Given the description of an element on the screen output the (x, y) to click on. 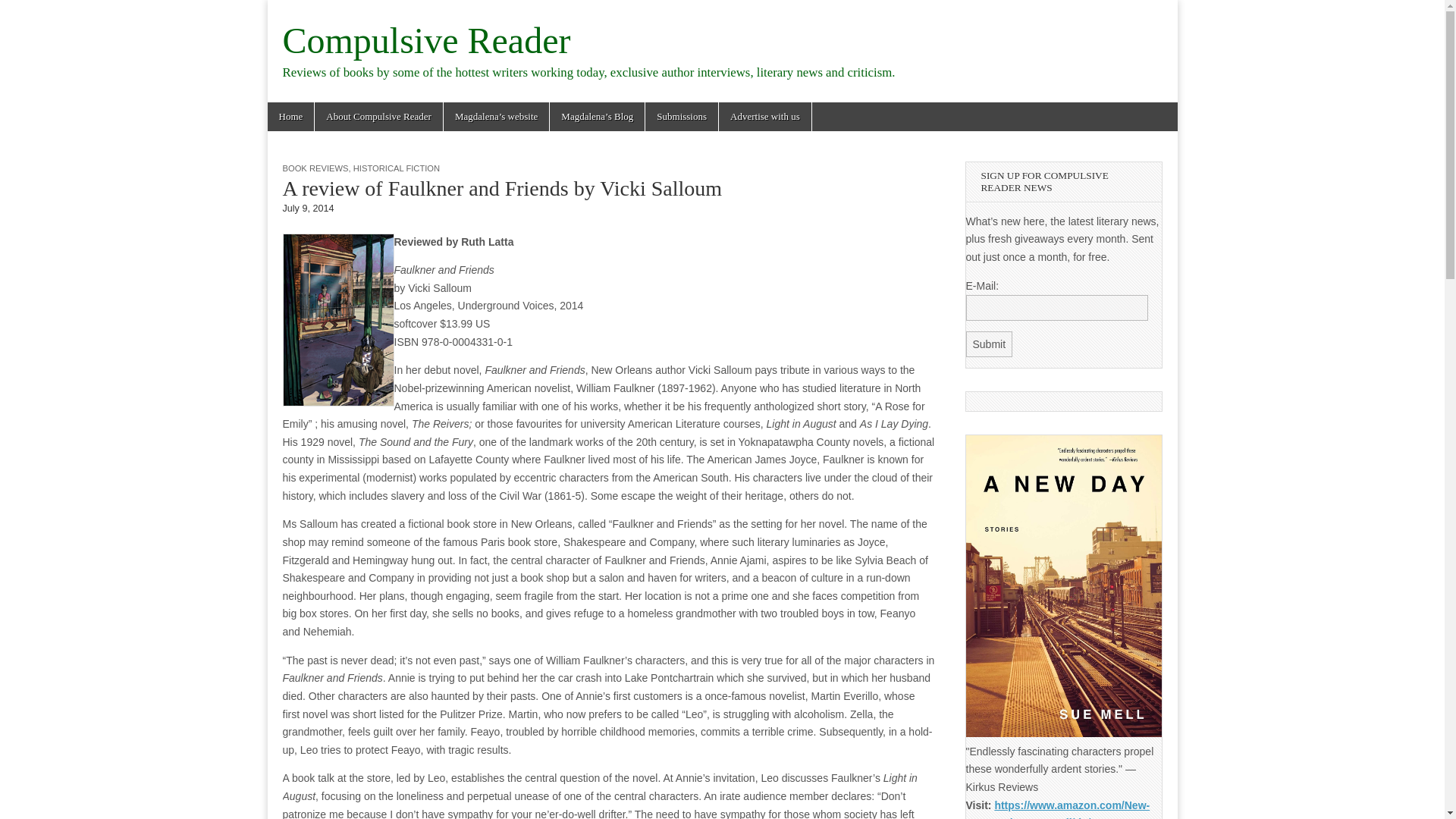
Compulsive Reader (426, 40)
HISTORICAL FICTION (396, 167)
Submit (989, 344)
Submit (989, 344)
Home (290, 116)
Advertise with us (764, 116)
Search (23, 12)
BOOK REVIEWS (314, 167)
Compulsive Reader (426, 40)
